Given the description of an element on the screen output the (x, y) to click on. 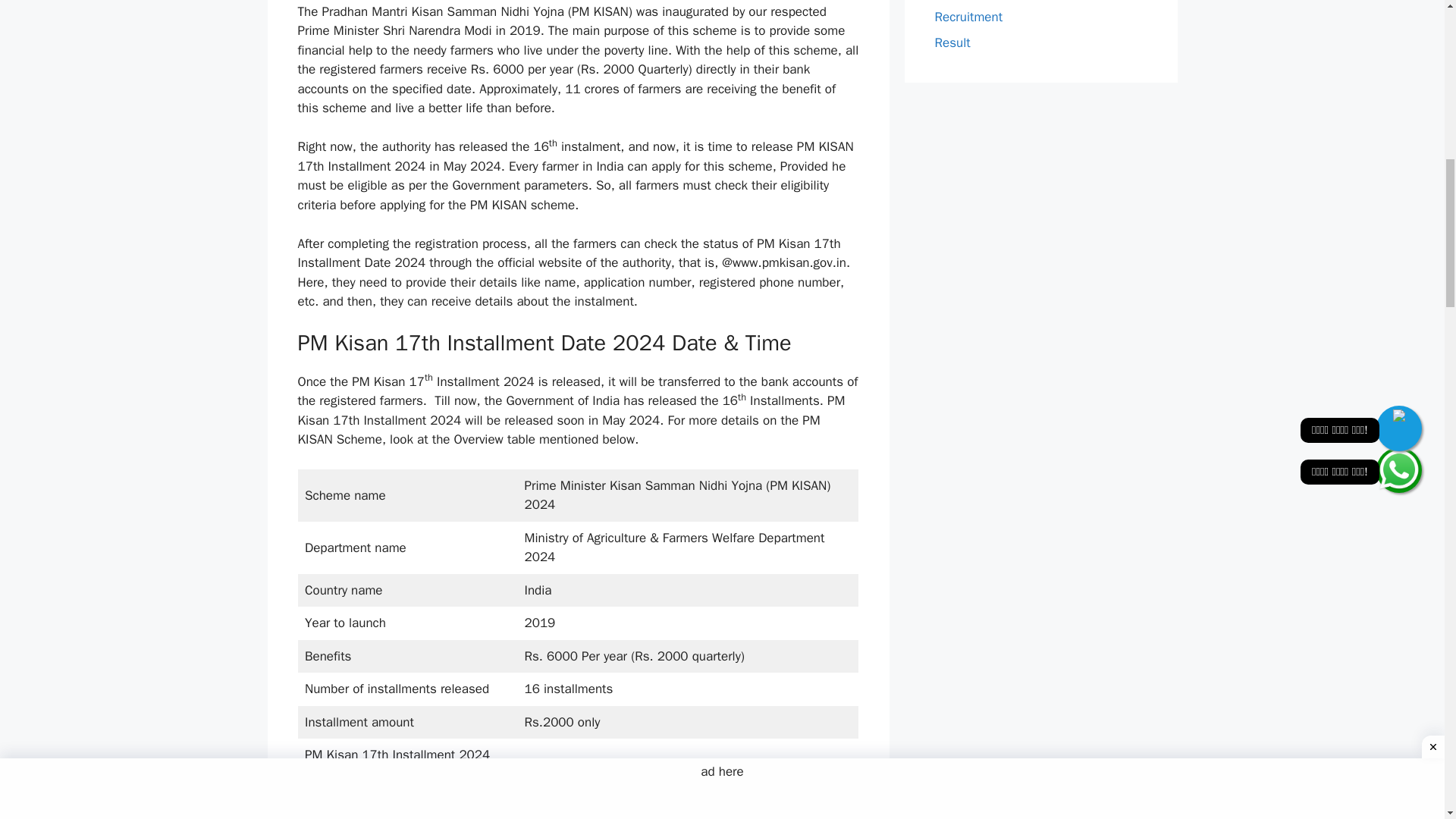
Result (951, 42)
Recruitment (968, 17)
